Given the description of an element on the screen output the (x, y) to click on. 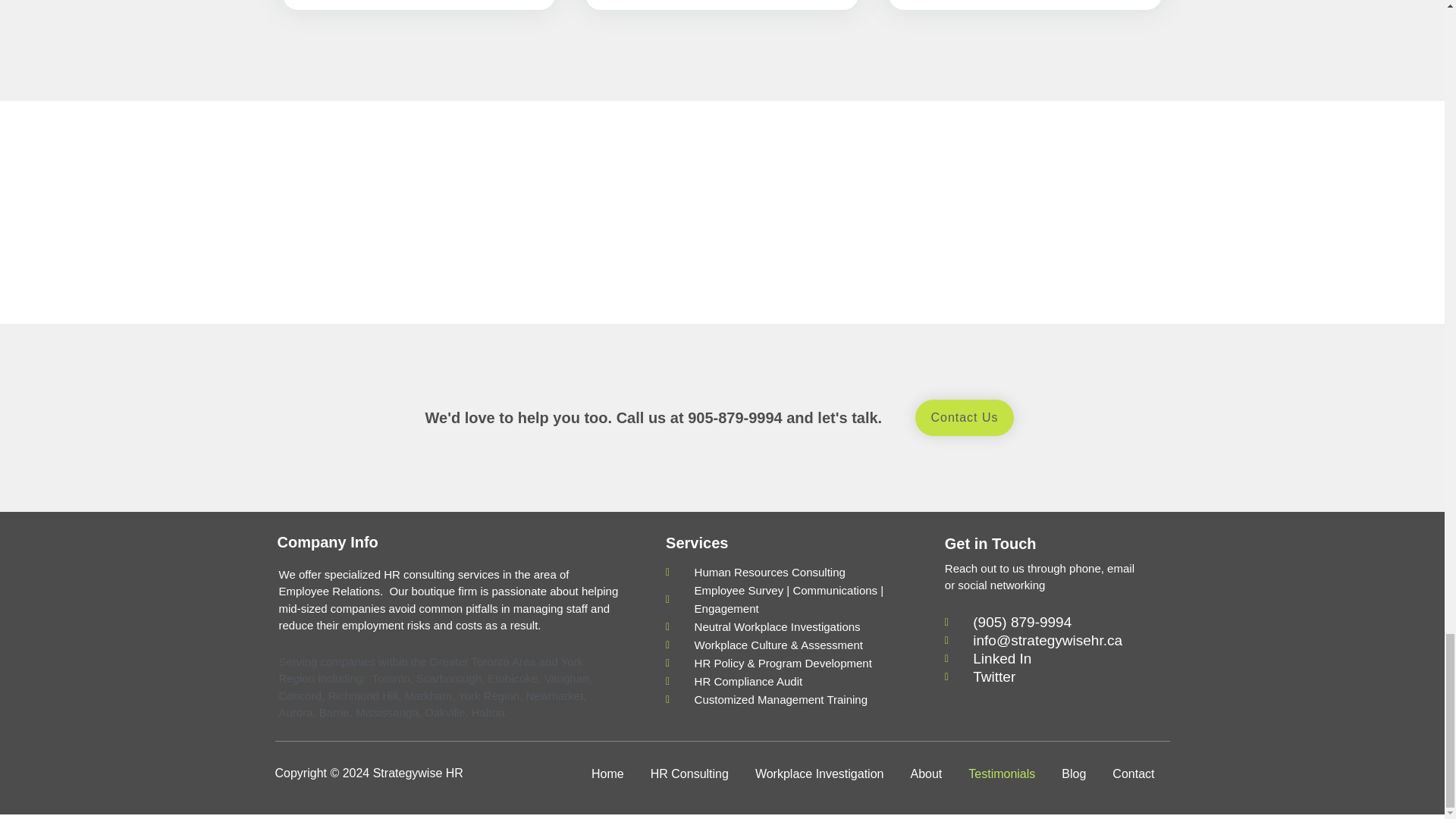
Blog (1073, 773)
About (925, 773)
HR Consulting (689, 773)
Workplace Investigation (819, 773)
Contact (1137, 773)
Customized Management Training (789, 700)
Twitter (1049, 677)
Contact Us (964, 417)
Testimonials (1001, 773)
Home (607, 773)
